Given the description of an element on the screen output the (x, y) to click on. 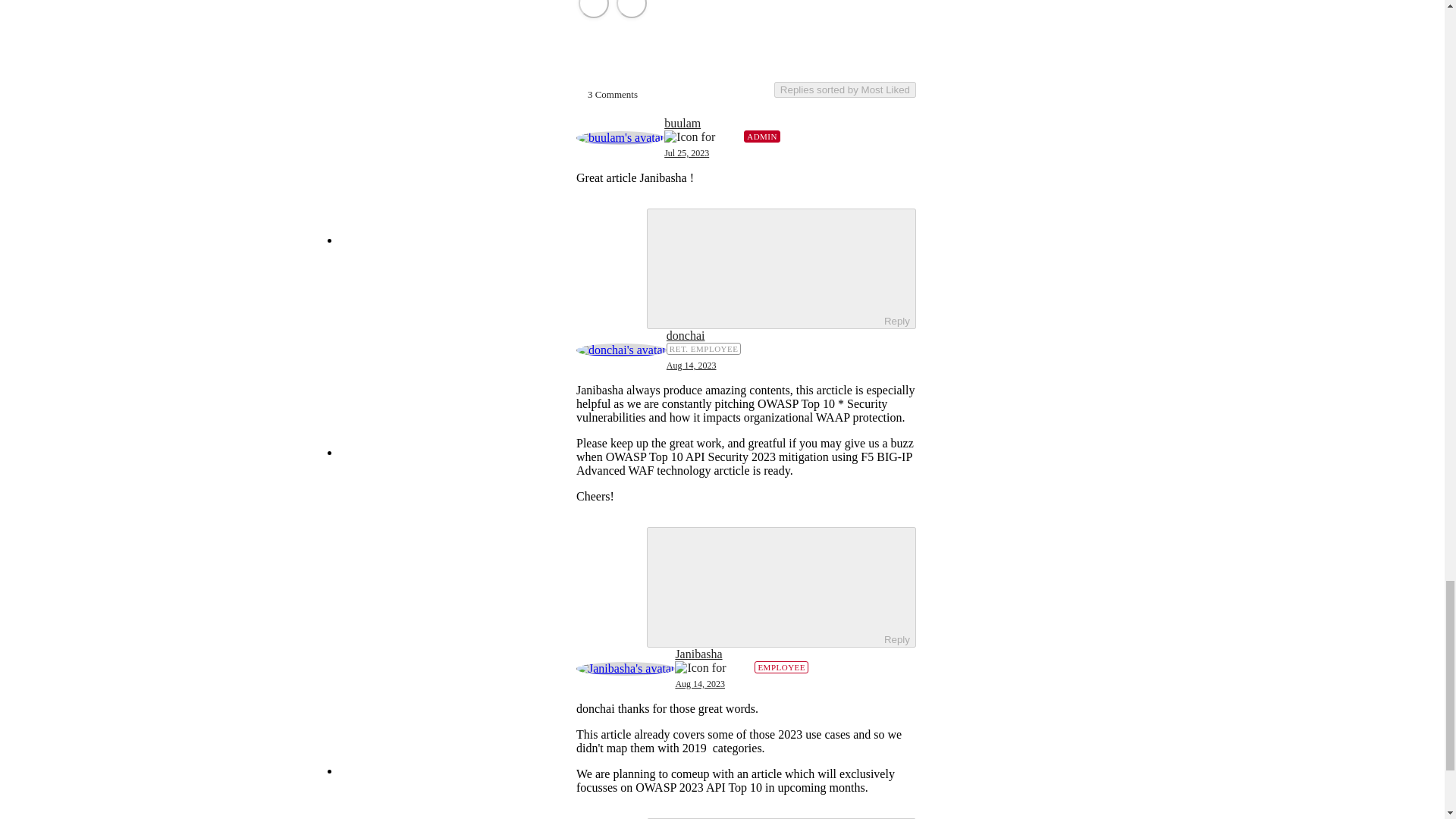
Reply (766, 267)
August 14, 2023 at 5:01 AM (691, 365)
August 14, 2023 at 5:32 AM (700, 683)
July 25, 2023 at 5:54 PM (686, 153)
Reply (766, 585)
